Given the description of an element on the screen output the (x, y) to click on. 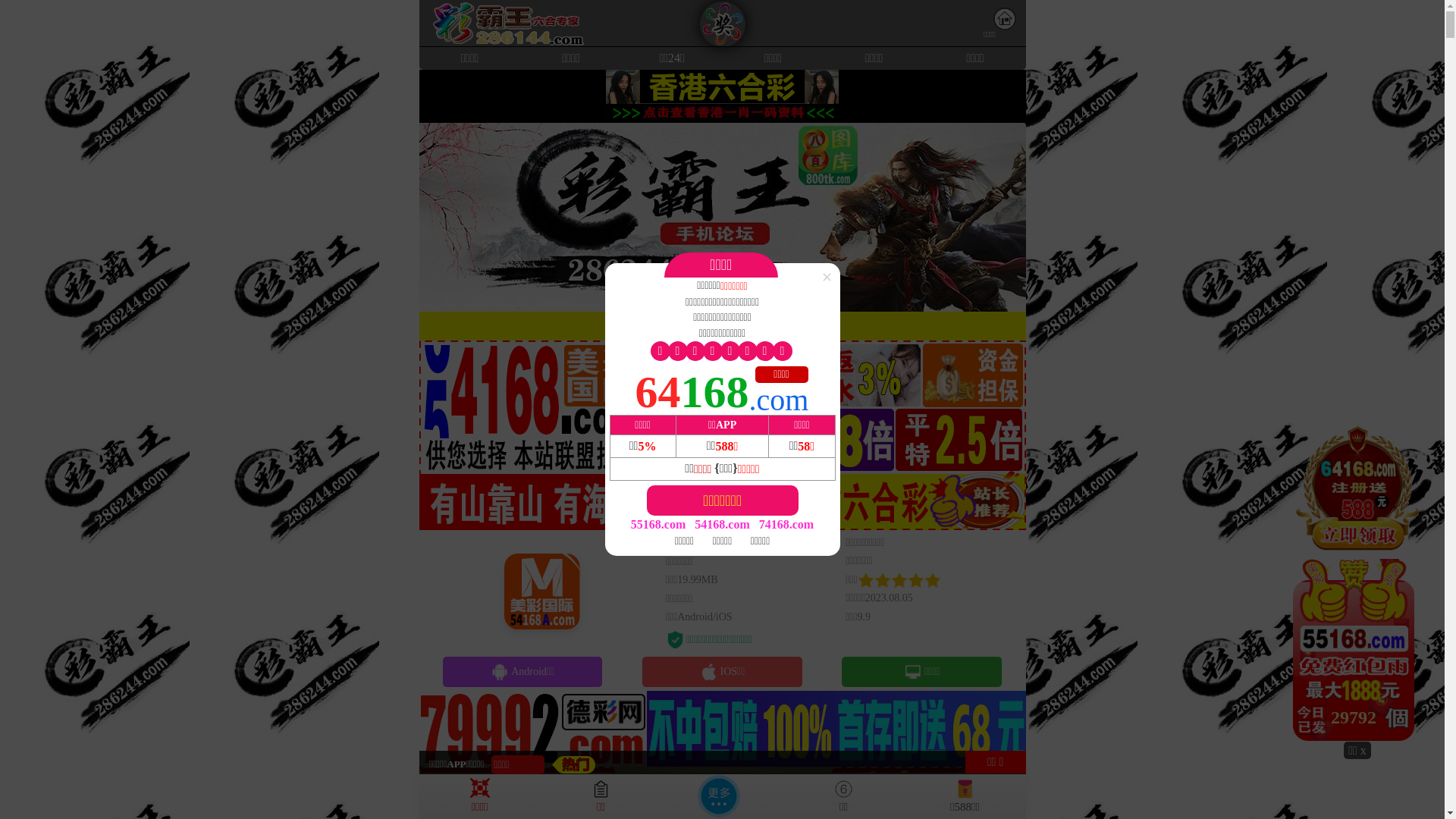
29112 Element type: text (1356, 582)
